Given the description of an element on the screen output the (x, y) to click on. 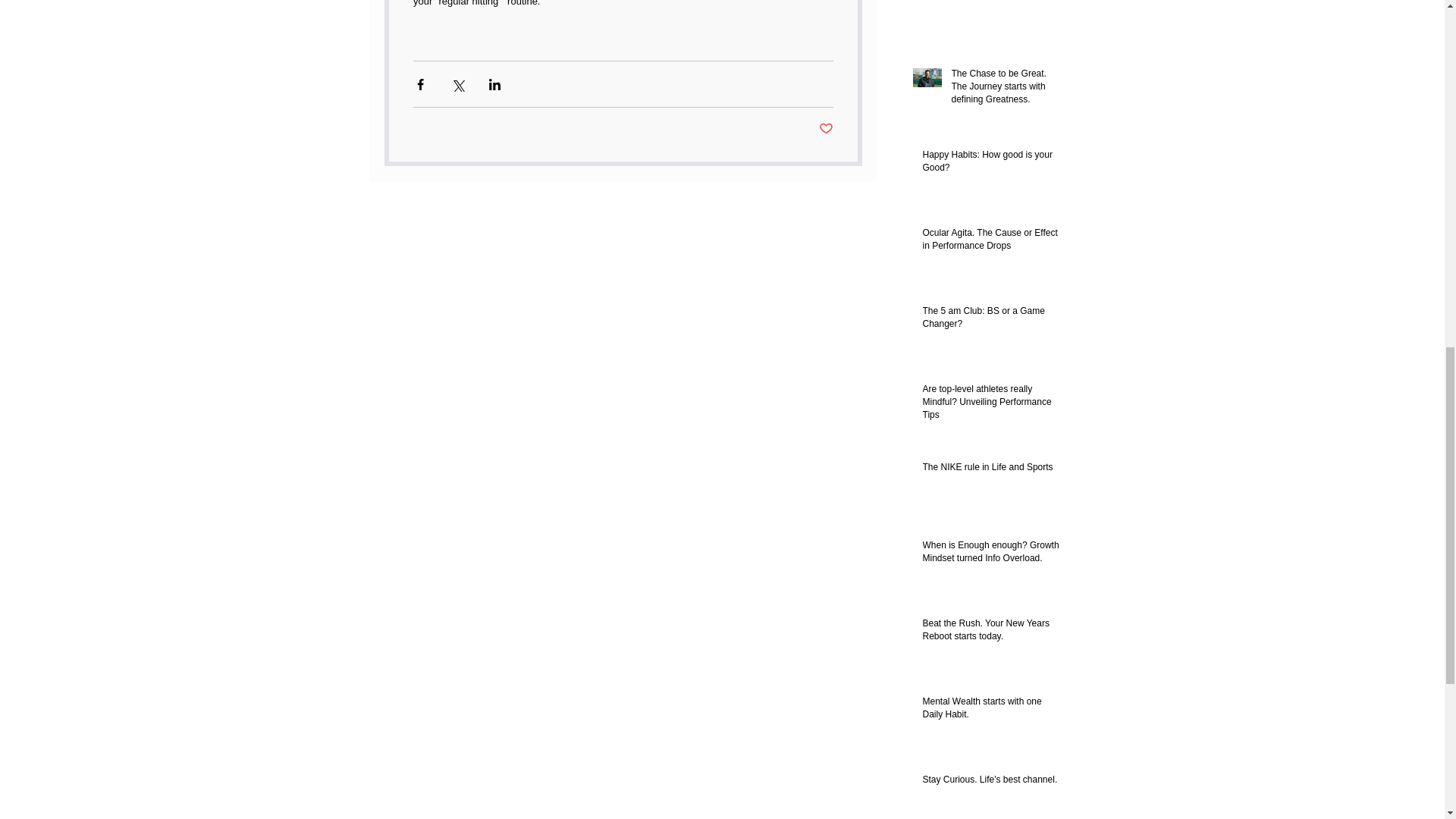
Ocular Agita. The Cause or Effect in Performance Drops (990, 242)
The NIKE rule in Life and Sports (990, 470)
When is Enough enough? Growth Mindset turned Info Overload. (990, 554)
Mental Wealth starts with one Daily Habit. (990, 711)
Post not marked as liked (825, 129)
Stay Curious. Life's best channel. (990, 782)
Beat the Rush. Your New Years Reboot starts today. (990, 633)
The 5 am Club: BS or a Game Changer? (990, 320)
Happy Habits: How good is your Good? (990, 164)
